Given the description of an element on the screen output the (x, y) to click on. 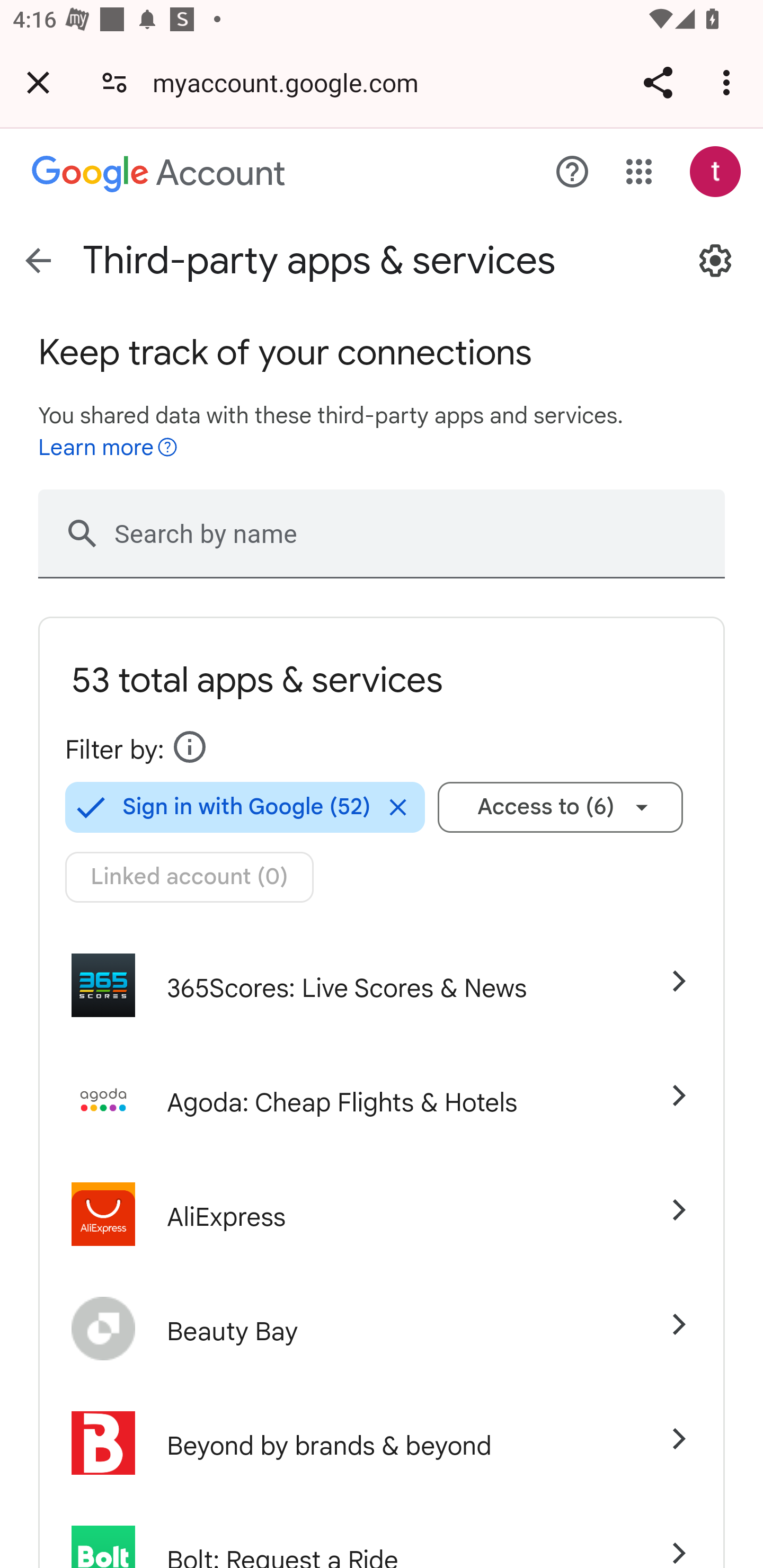
Close tab (38, 82)
Share (657, 82)
Customize and control Google Chrome (729, 82)
Connection is secure (114, 81)
myaccount.google.com (291, 81)
Help (572, 171)
Google apps (638, 171)
Google Account settings Account (159, 174)
Back (38, 260)
Sign-in settings for third parties (715, 260)
Learn more about filters (189, 746)
Sign in with Google (52) (218, 807)
Remove Sign in with Google filter (397, 807)
Linked account (0) (189, 877)
365Scores: Live Scores & News (381, 985)
Agoda: Cheap Flights & Hotels (381, 1099)
AliExpress (381, 1214)
Beauty Bay (381, 1328)
Beyond by brands & beyond (381, 1443)
Bolt: Request a Ride (381, 1534)
